Given the description of an element on the screen output the (x, y) to click on. 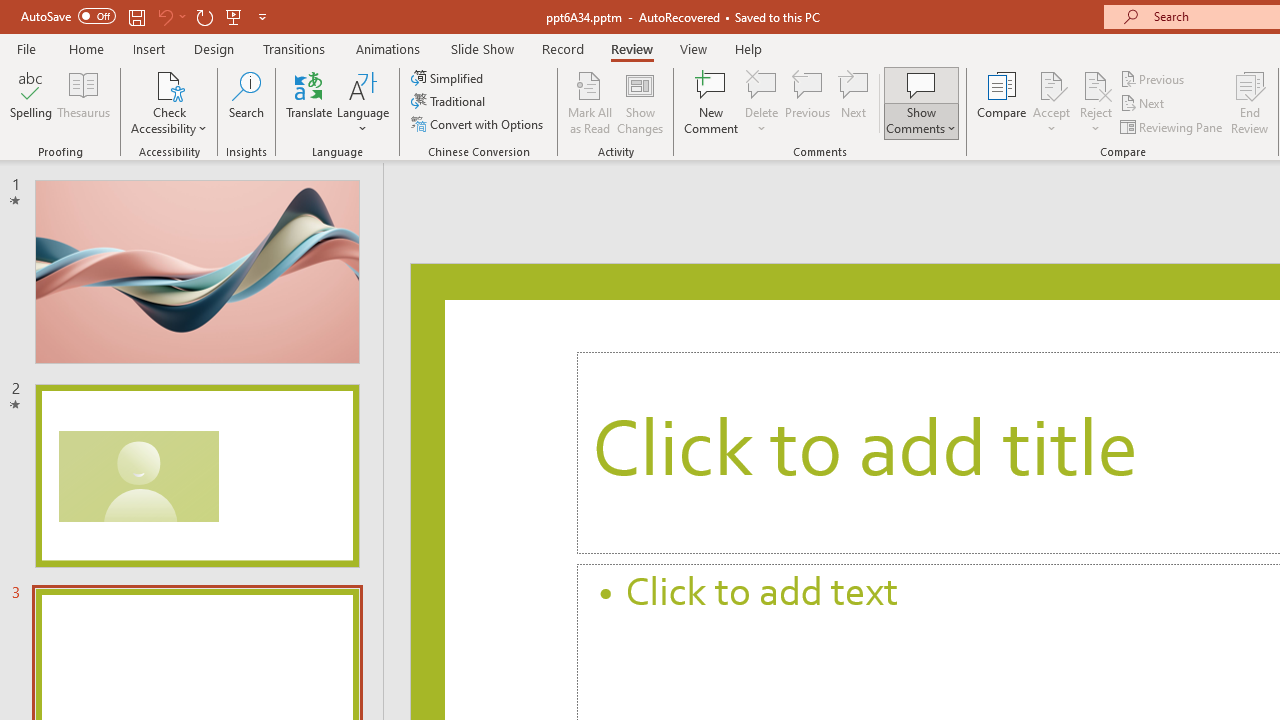
Show Changes (639, 102)
Simplified (449, 78)
Delete (762, 102)
Check Accessibility (169, 84)
New Comment (711, 102)
Delete (762, 84)
Check Accessibility (169, 102)
Accept (1051, 102)
Previous (1153, 78)
